Given the description of an element on the screen output the (x, y) to click on. 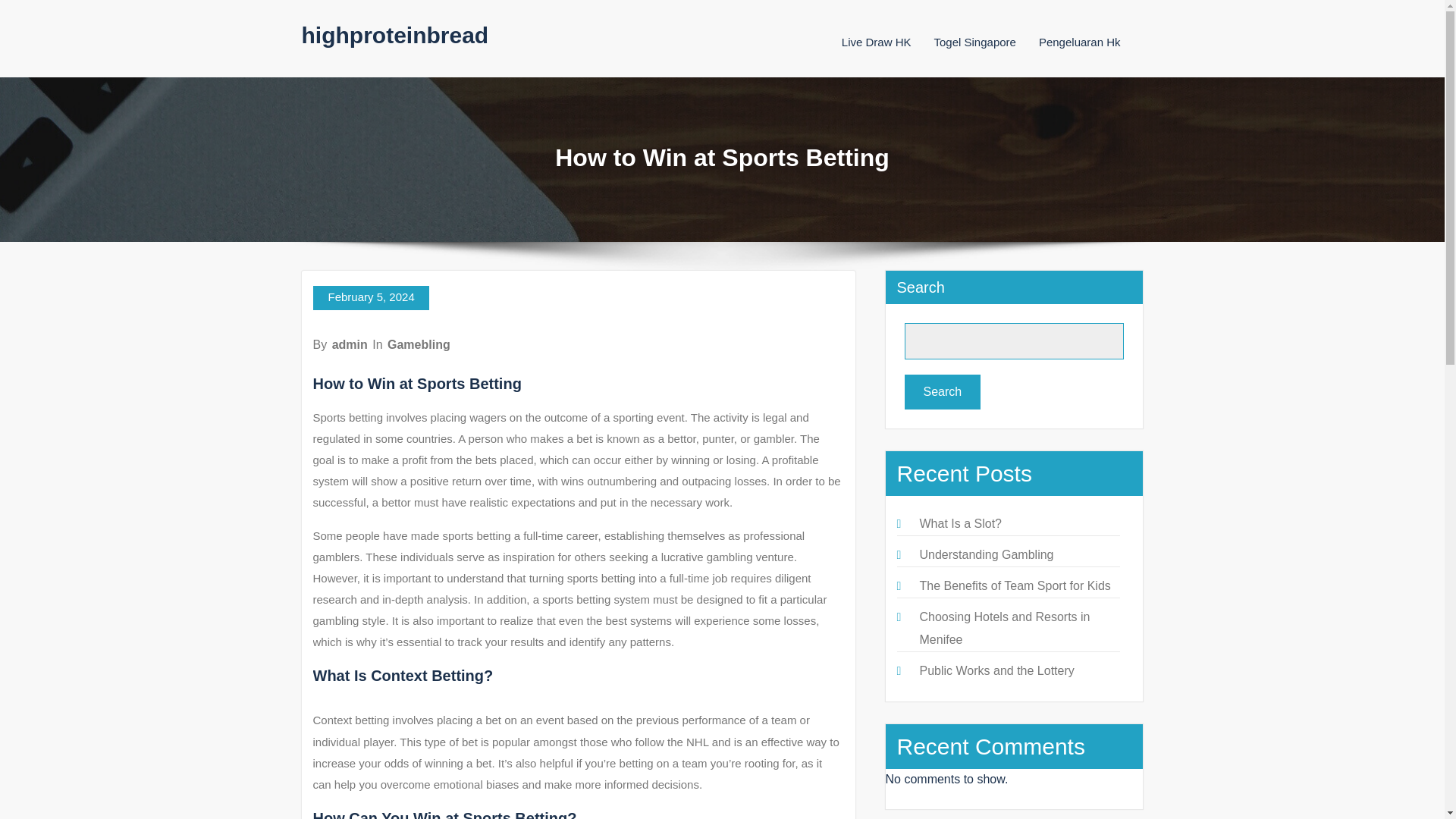
Gamebling (418, 344)
admin (349, 344)
Understanding Gambling (985, 554)
Search (941, 391)
Togel Singapore (975, 41)
Pengeluaran Hk (1080, 41)
February 5, 2024 (370, 297)
What Is a Slot? (959, 522)
highproteinbread (395, 34)
Live Draw HK (876, 41)
